Given the description of an element on the screen output the (x, y) to click on. 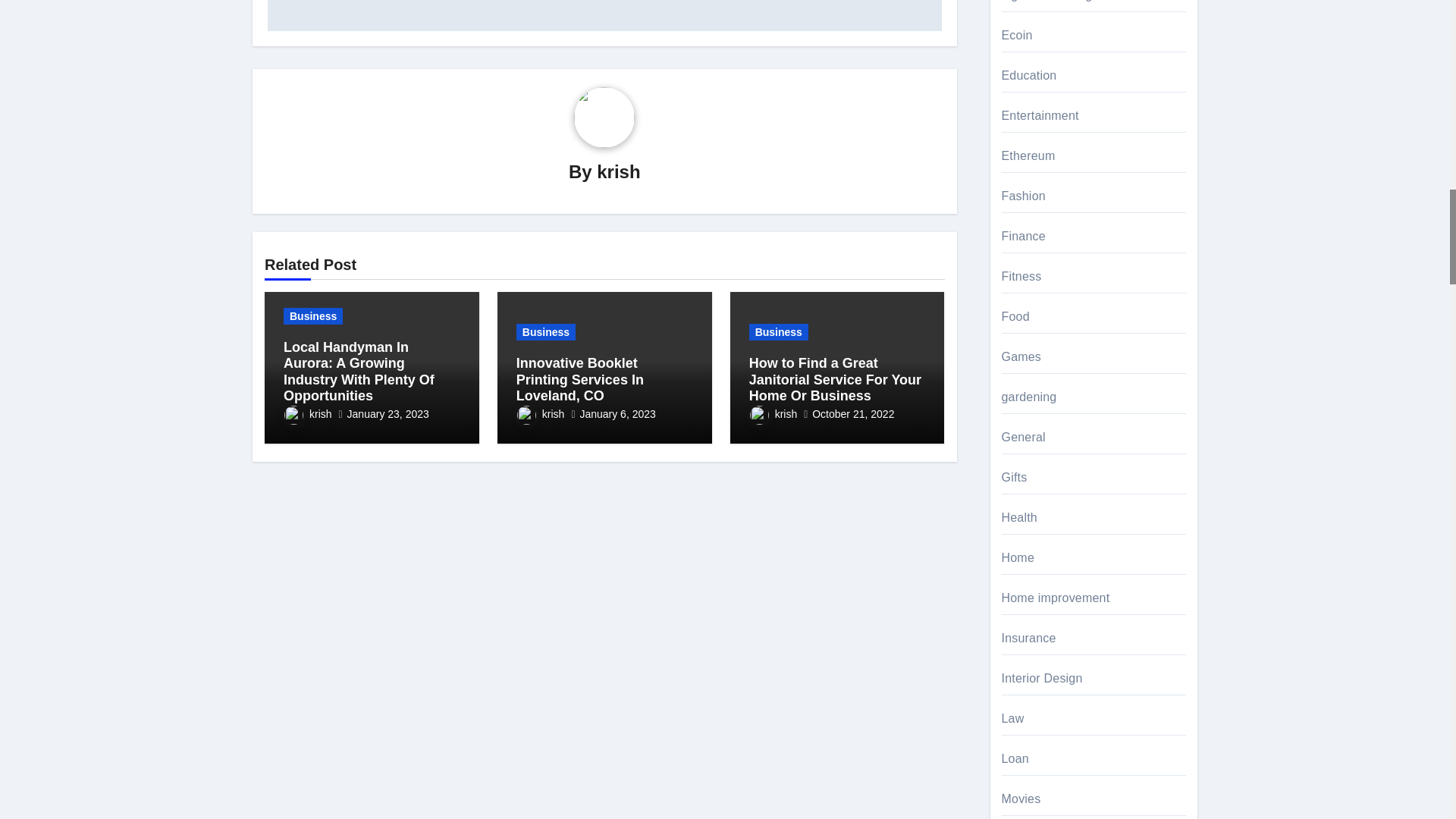
krish (307, 413)
Business (312, 315)
krish (618, 171)
